Given the description of an element on the screen output the (x, y) to click on. 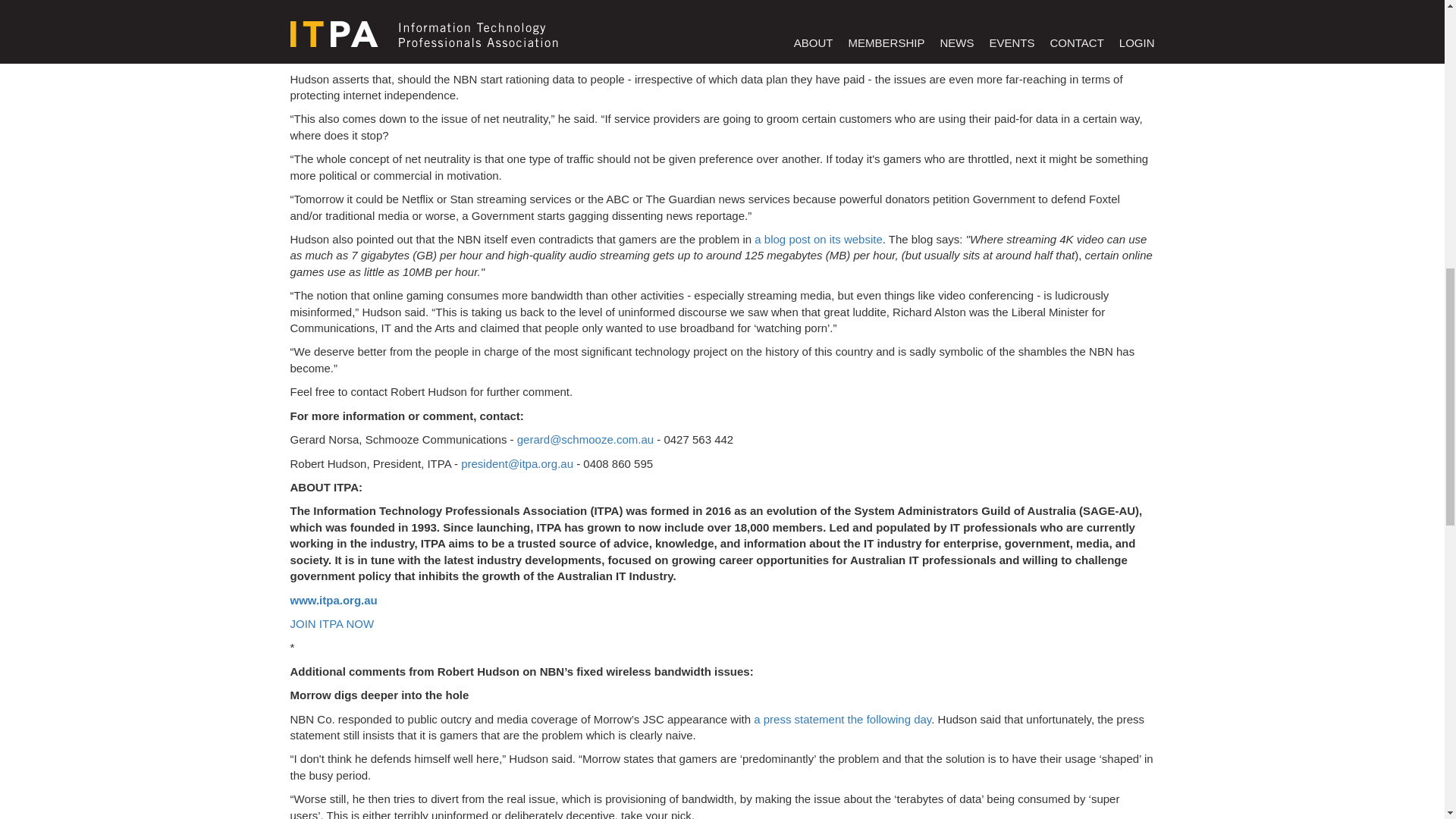
JOIN ITPA NOW (331, 623)
a press statement the following day (842, 718)
a blog post on its website (818, 238)
www.itpa.org.au (333, 599)
